Given the description of an element on the screen output the (x, y) to click on. 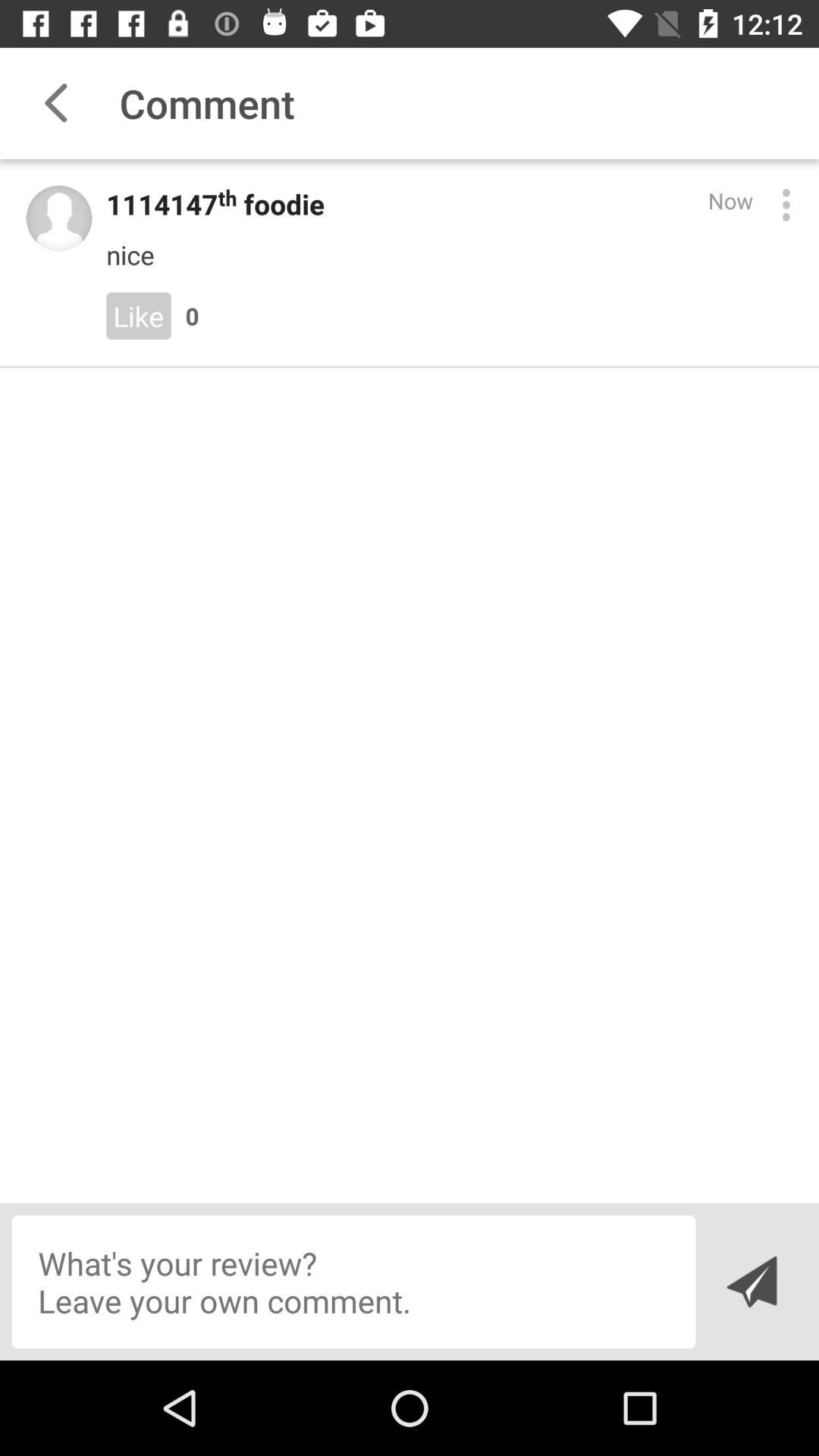
view profile (59, 218)
